Given the description of an element on the screen output the (x, y) to click on. 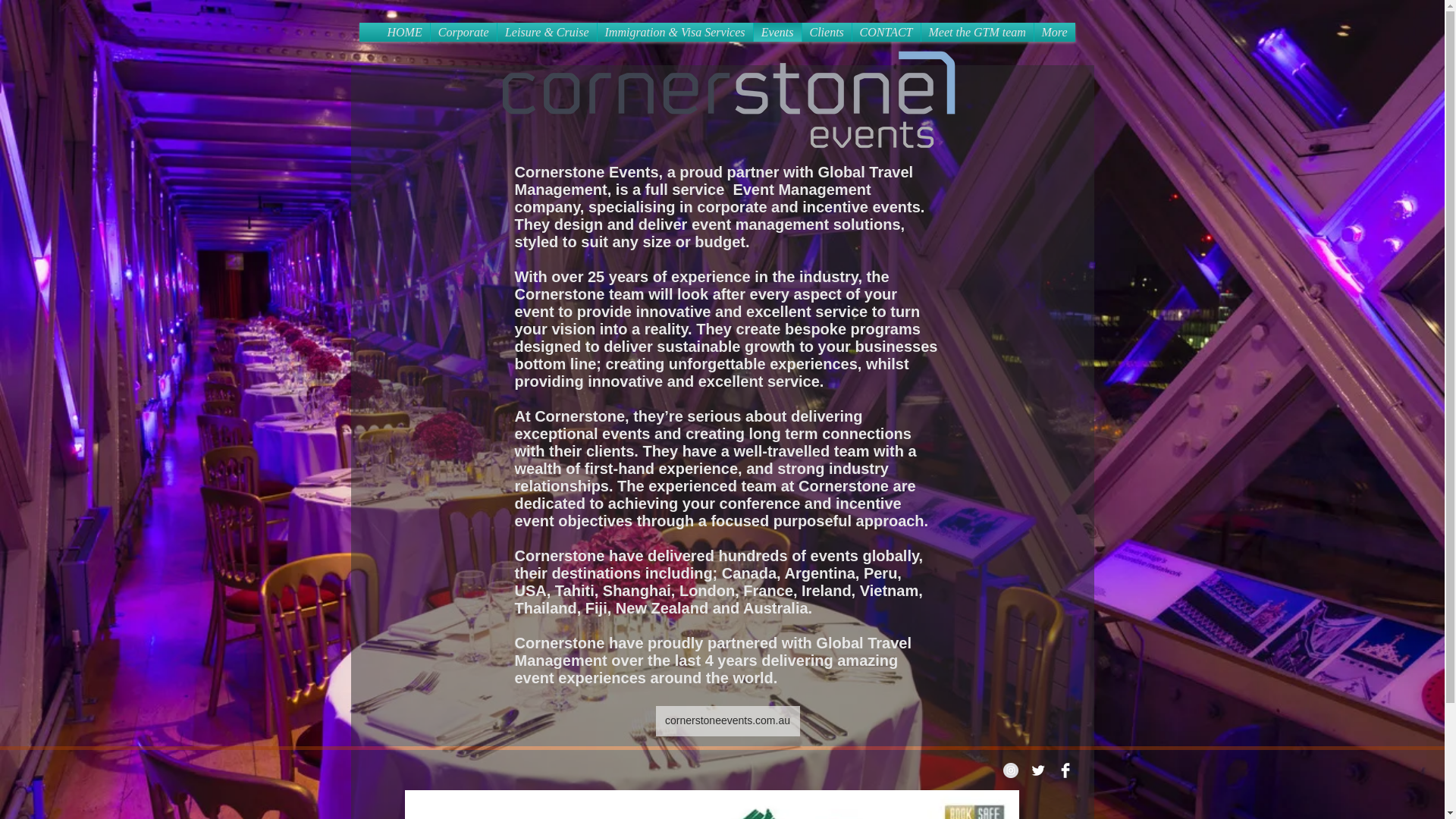
cornerstoneevents.com.au (727, 720)
Events (778, 31)
Corporate (463, 31)
HOME (403, 31)
CONTACT (885, 31)
Meet the GTM team (976, 31)
Clients (826, 31)
